Given the description of an element on the screen output the (x, y) to click on. 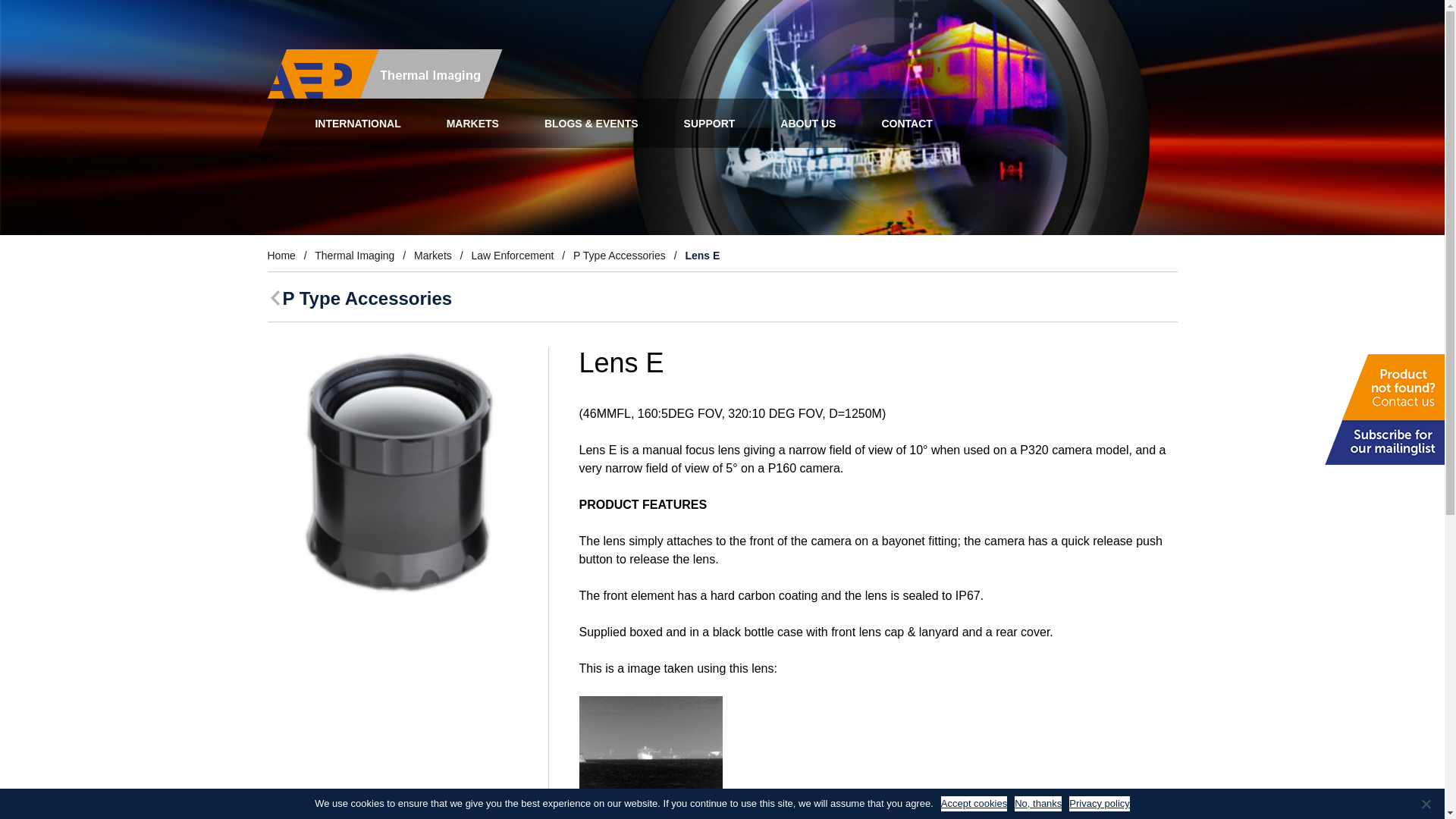
P Type Accessories (358, 298)
Law Enforcement (511, 255)
SUPPORT (709, 123)
P Type Accessories (619, 255)
Home (280, 255)
INTERNATIONAL (357, 123)
CONTACT (907, 123)
Lens-E (395, 477)
ABOUT US (808, 123)
MARKETS (472, 123)
No, thanks (1425, 803)
Markets (432, 255)
Thermal Imaging (354, 255)
Thermal imaging (373, 73)
